Given the description of an element on the screen output the (x, y) to click on. 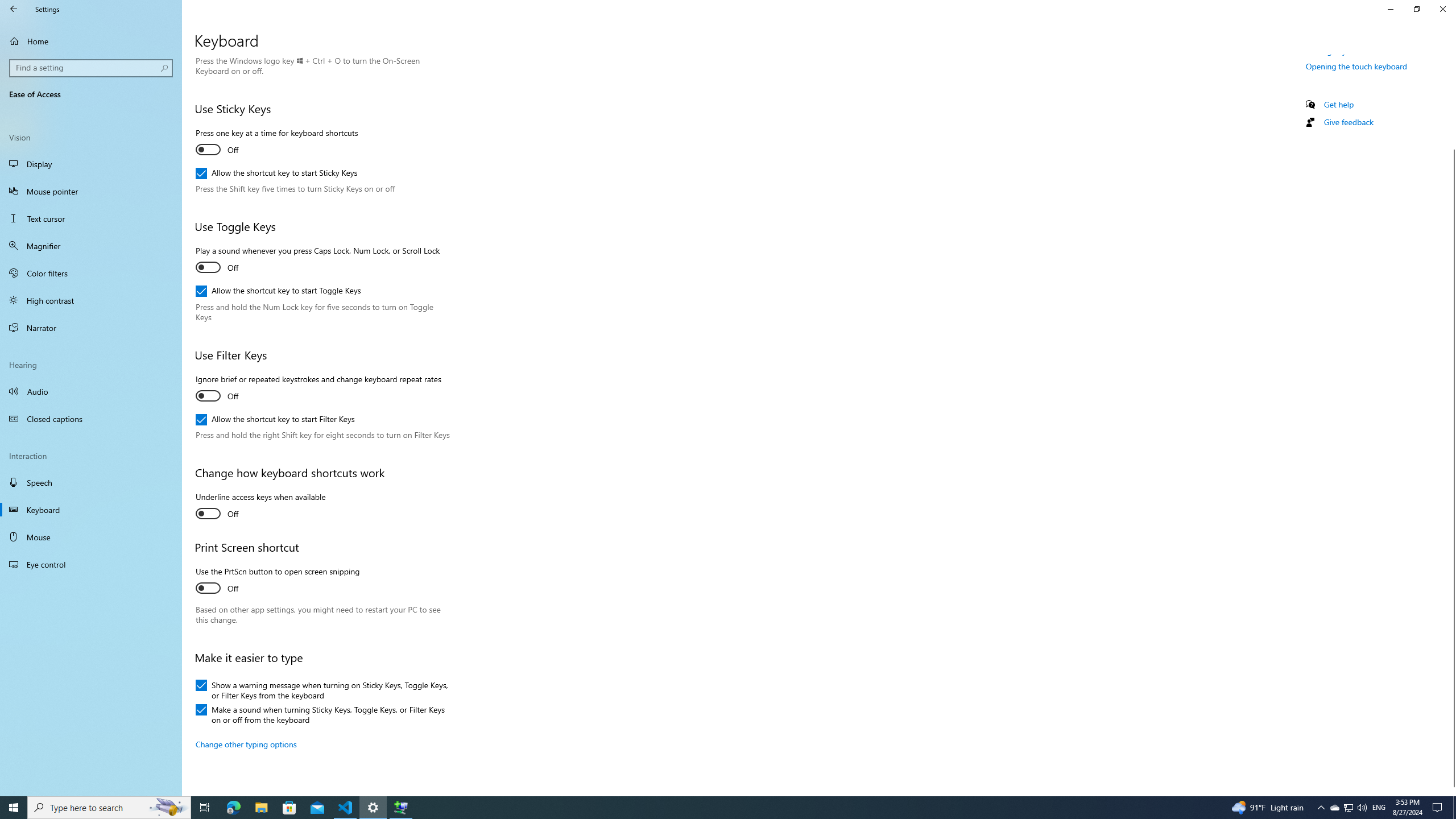
Finding keyboard shortcuts (1347, 807)
Use the On-Screen Keyboard (1354, 50)
File Explorer (246, 32)
Microsoft Store (261, 807)
Underline access keys when available (289, 807)
Task View (260, 506)
Search box, Find a setting (204, 807)
Keyboard (91, 67)
Running applications (91, 509)
Allow the shortcut key to start Filter Keys (706, 807)
Mouse (275, 419)
Home (91, 536)
Use the PrtScn button to open screen snipping (91, 40)
